Given the description of an element on the screen output the (x, y) to click on. 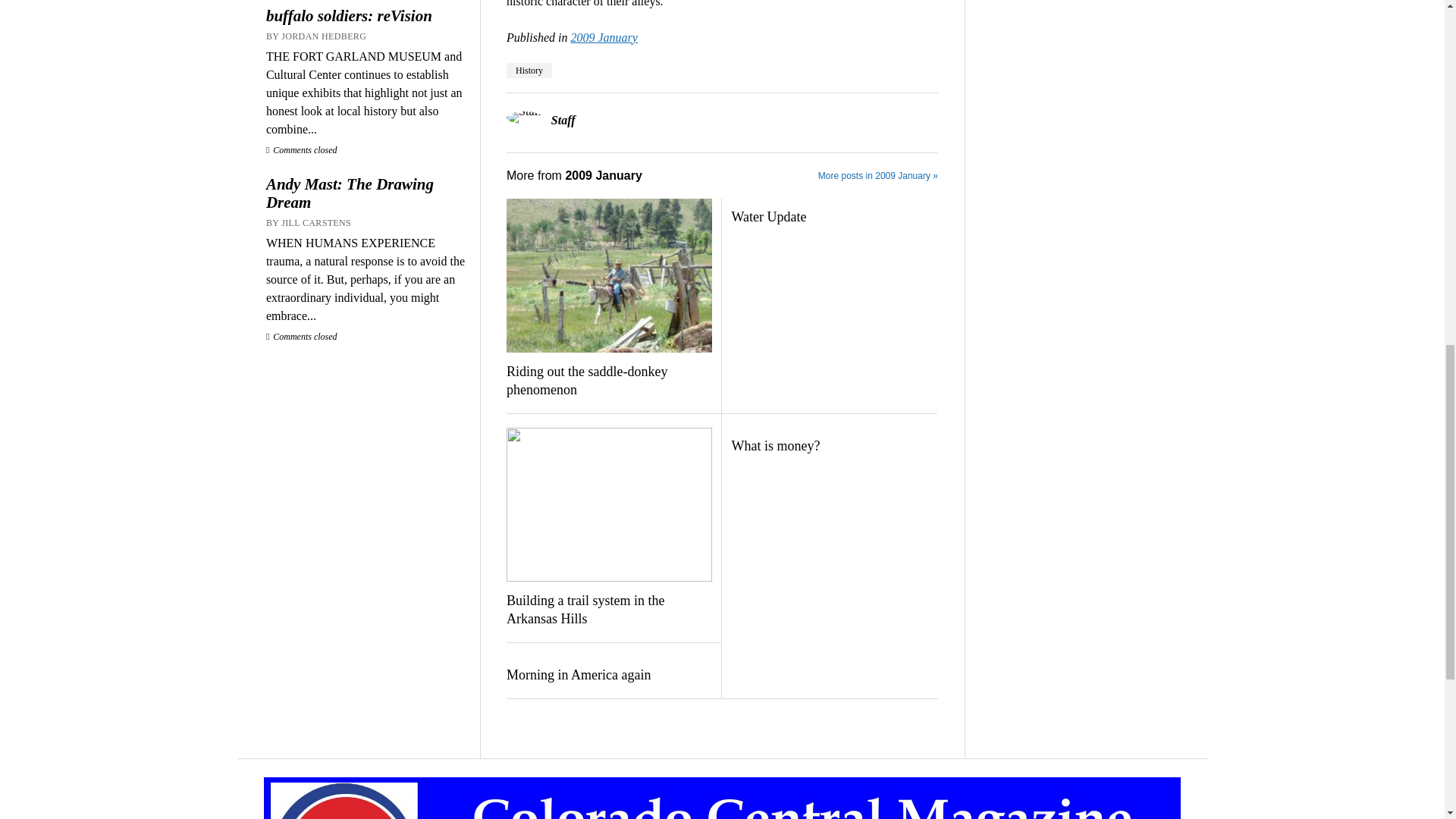
Morning in America again (608, 675)
Water Update (833, 217)
Andy Mast: The Drawing Dream (365, 193)
2009 January (603, 37)
Building a trail system in the Arkansas Hills (608, 610)
buffalo soldiers: reVision (365, 15)
View all posts tagged History (528, 70)
Riding out the saddle-donkey phenomenon (608, 381)
History (528, 70)
View all posts in 2009 January (603, 37)
Comments closed (301, 149)
Comments closed (301, 336)
What is money? (833, 446)
